Given the description of an element on the screen output the (x, y) to click on. 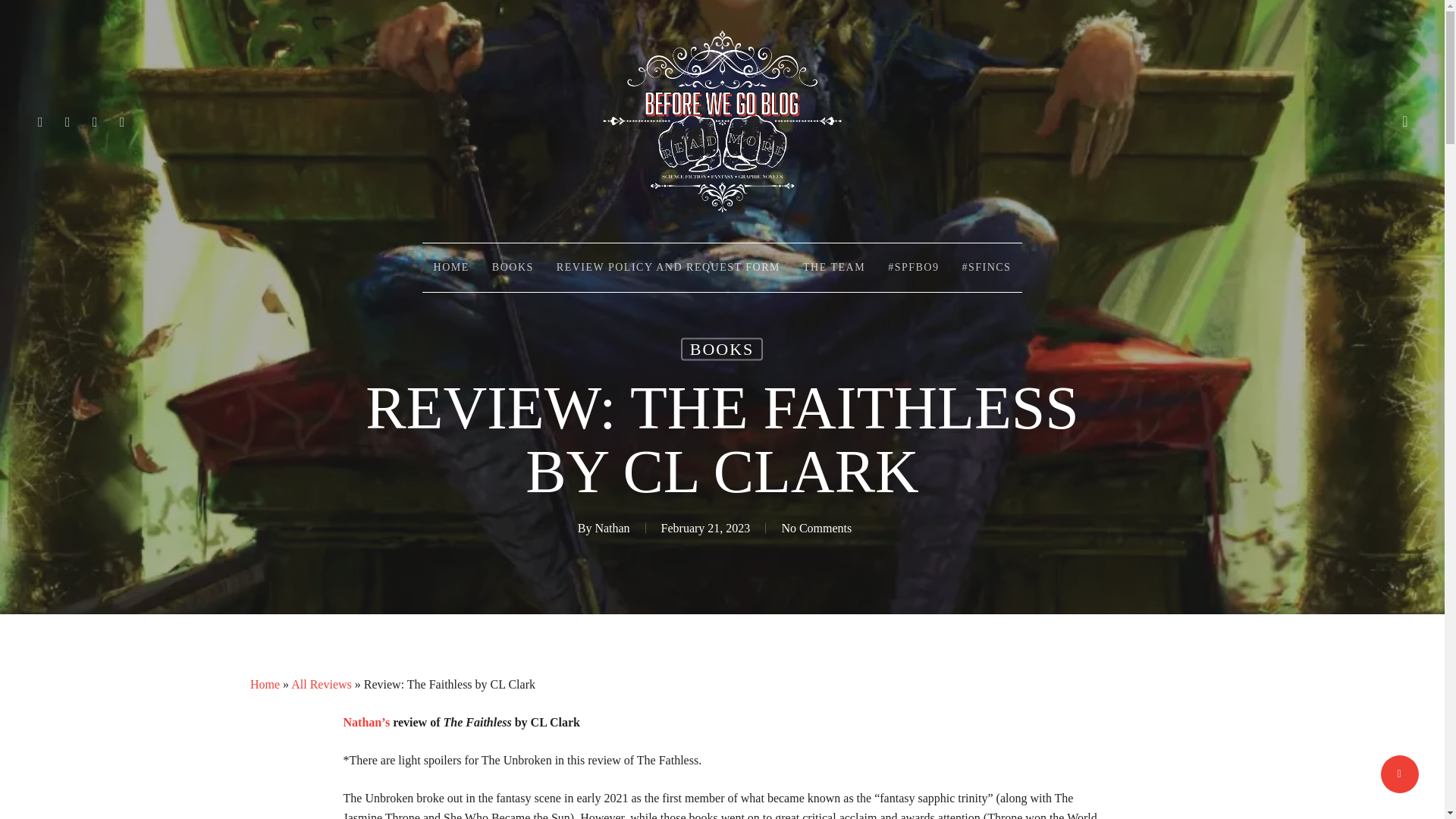
INSTAGRAM (122, 121)
REVIEW POLICY AND REQUEST FORM (668, 267)
HOME (451, 267)
Home (264, 684)
All Reviews (321, 684)
search (1404, 121)
BOOKS (512, 267)
FACEBOOK (68, 121)
TWITTER (41, 121)
BOOKS (721, 349)
Posts by Nathan (611, 527)
THE TEAM (834, 267)
PINTEREST (95, 121)
Nathan (611, 527)
No Comments (815, 527)
